Given the description of an element on the screen output the (x, y) to click on. 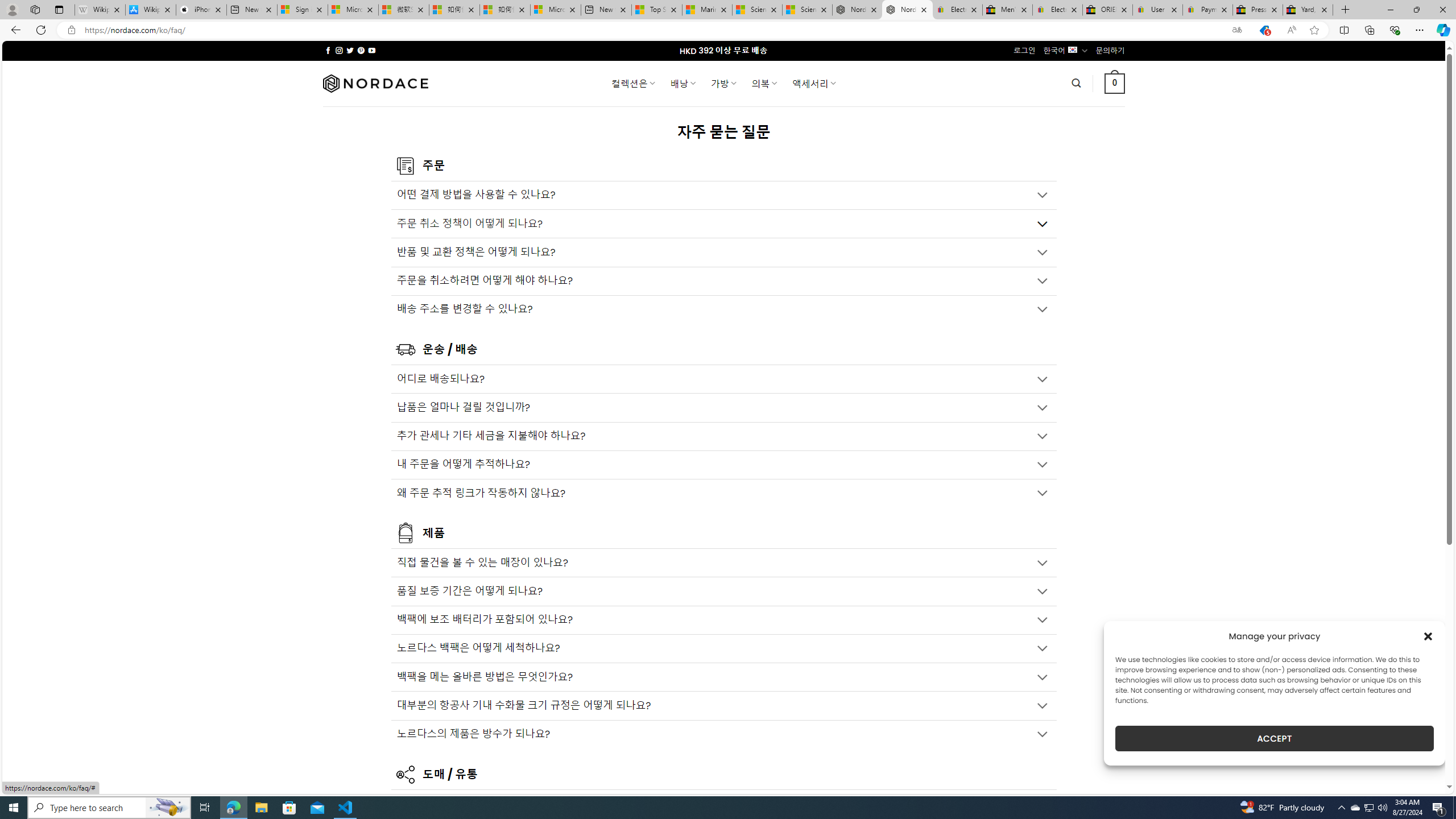
Class: cmplz-close (1428, 636)
Press Room - eBay Inc. (1257, 9)
Follow on Twitter (349, 50)
